Given the description of an element on the screen output the (x, y) to click on. 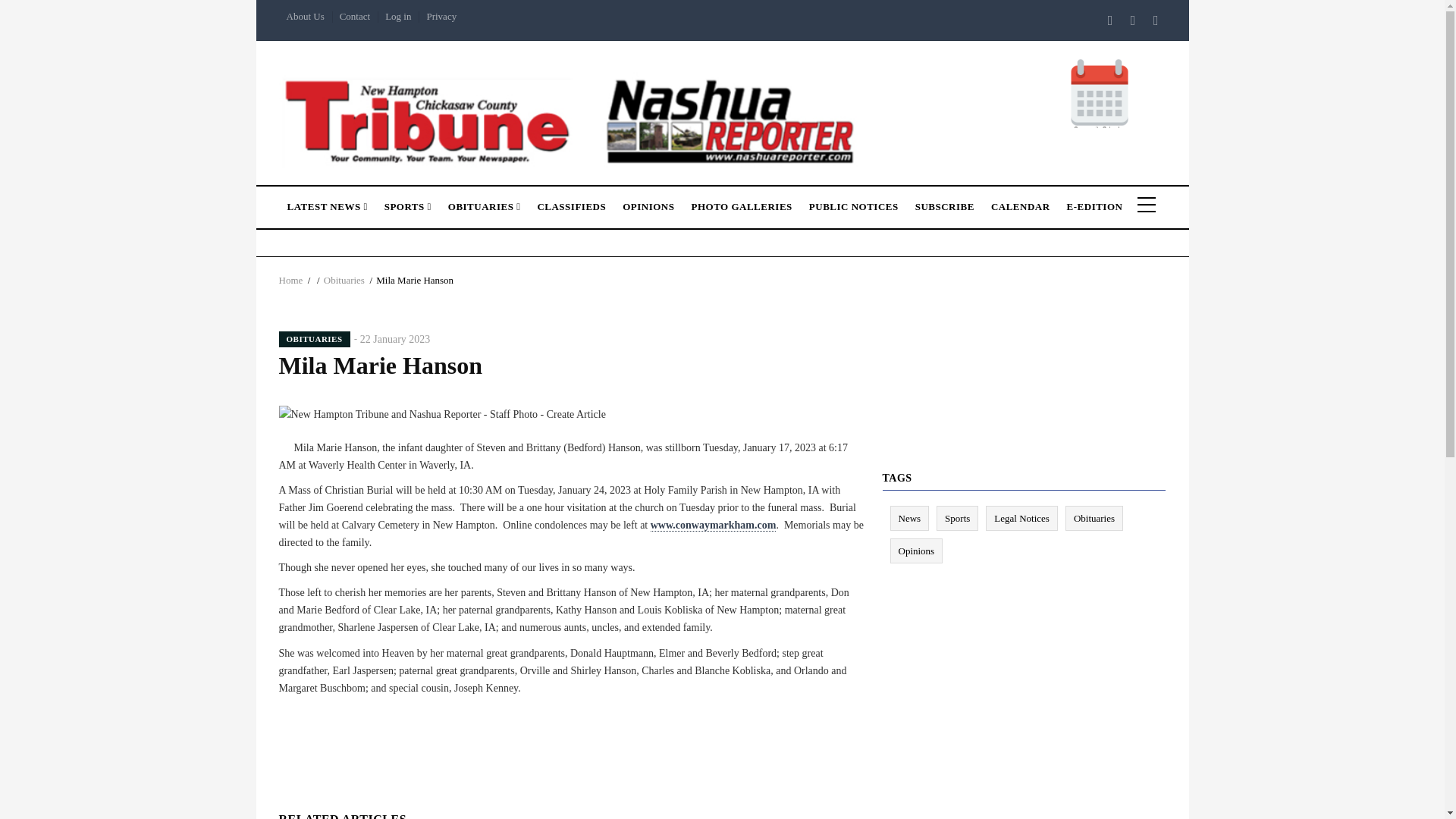
SPORTS (407, 202)
Privacy (441, 16)
LATEST NEWS (327, 202)
Share to E-mail (603, 725)
Share to Twitter (539, 725)
Share to Reddit (582, 725)
About Us (305, 16)
Log in (398, 16)
Share to Facebook (518, 725)
Contact (354, 16)
Home (571, 118)
Share to Pinterest (561, 725)
